Given the description of an element on the screen output the (x, y) to click on. 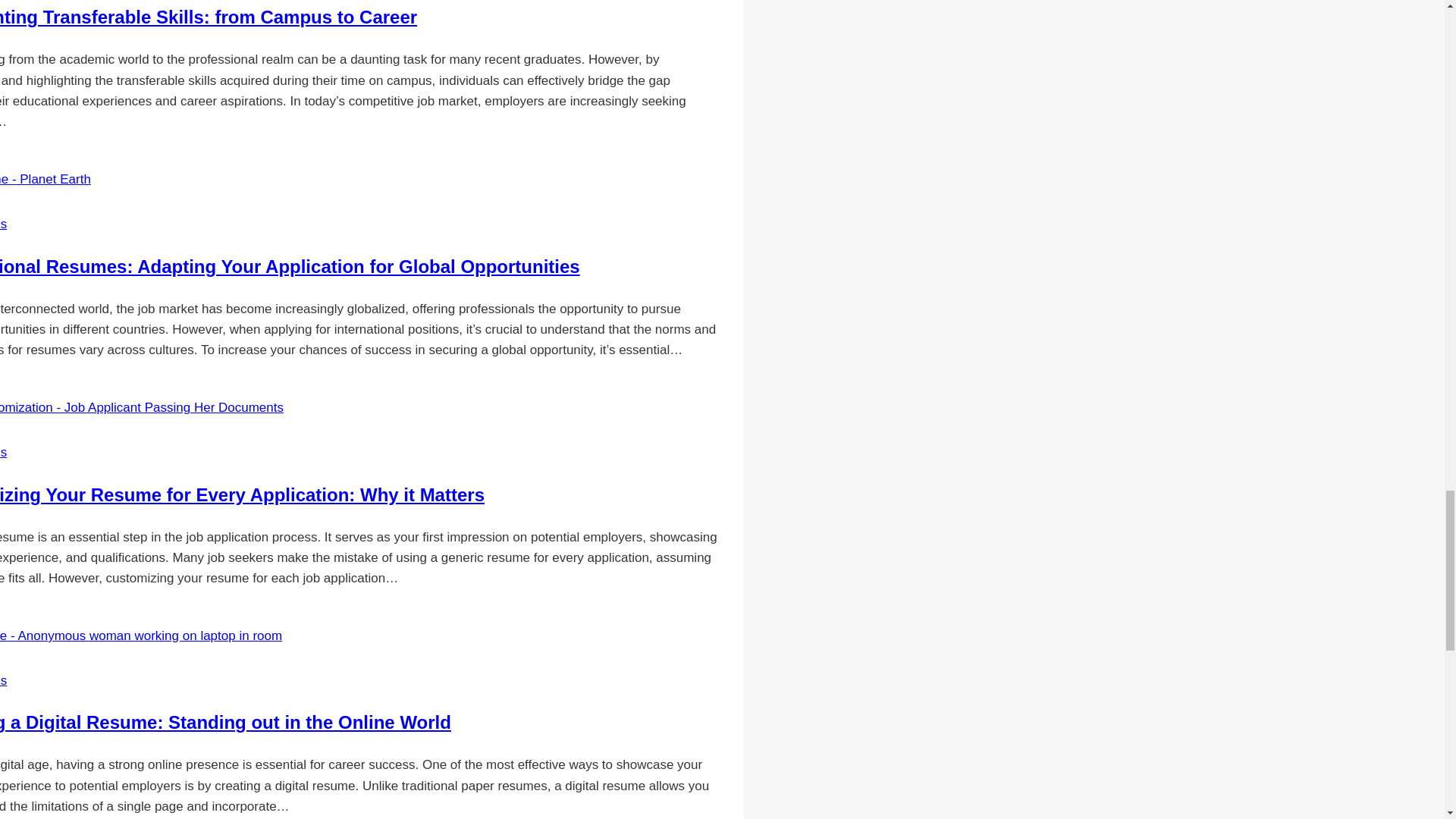
Highlighting Transferable Skills: from Campus to Career (208, 16)
Resume Tips (3, 680)
Resume Tips (3, 452)
Resume Tips (3, 223)
Creating a Digital Resume: Standing out in the Online World (225, 721)
